Given the description of an element on the screen output the (x, y) to click on. 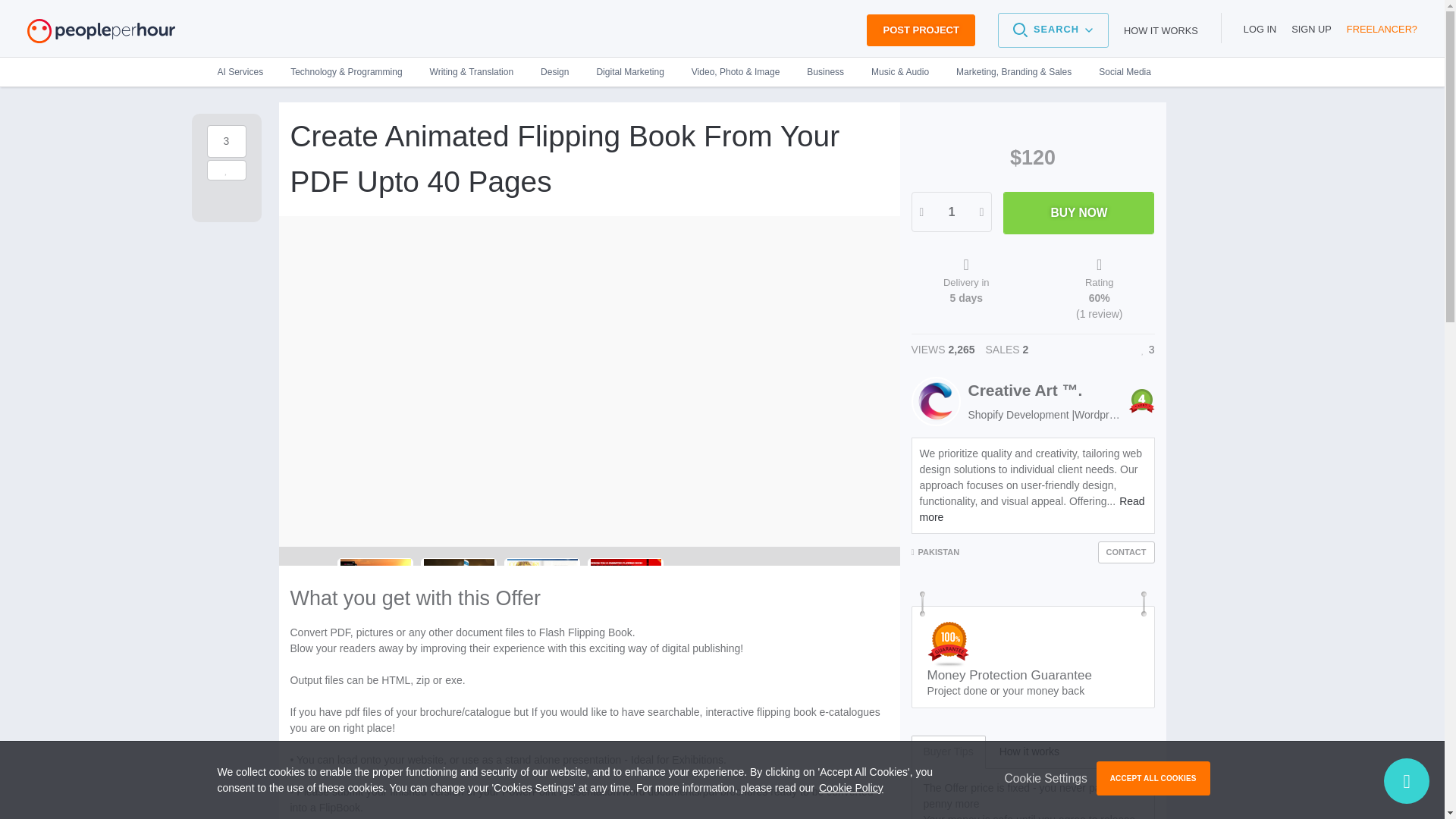
FREELANCER? (1381, 28)
Design (554, 71)
POST PROJECT (920, 29)
Become a freelancer (1381, 28)
SIGN UP (1311, 28)
Business (825, 71)
Digital Marketing (629, 71)
AI Services (246, 71)
Social Media (1117, 71)
Buy Now (1078, 212)
LOG IN (1259, 28)
Log in (1259, 28)
HOW IT WORKS (1161, 30)
